Given the description of an element on the screen output the (x, y) to click on. 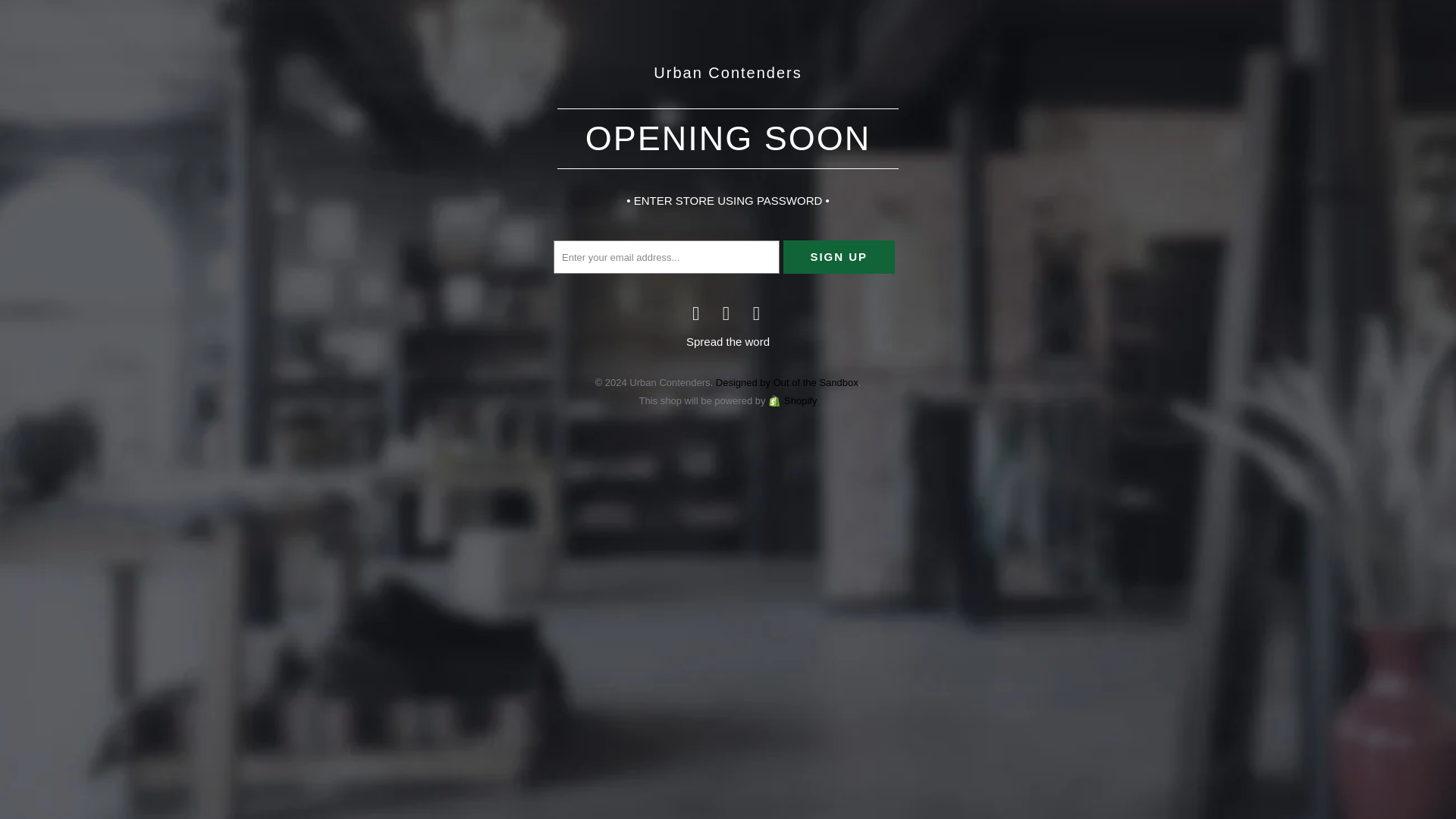
Sign Up (839, 256)
Sign Up (839, 256)
Urban Contenders on Instagram (757, 312)
Urban Contenders on Pinterest (726, 312)
Urban Contenders on Facebook (695, 312)
